Given the description of an element on the screen output the (x, y) to click on. 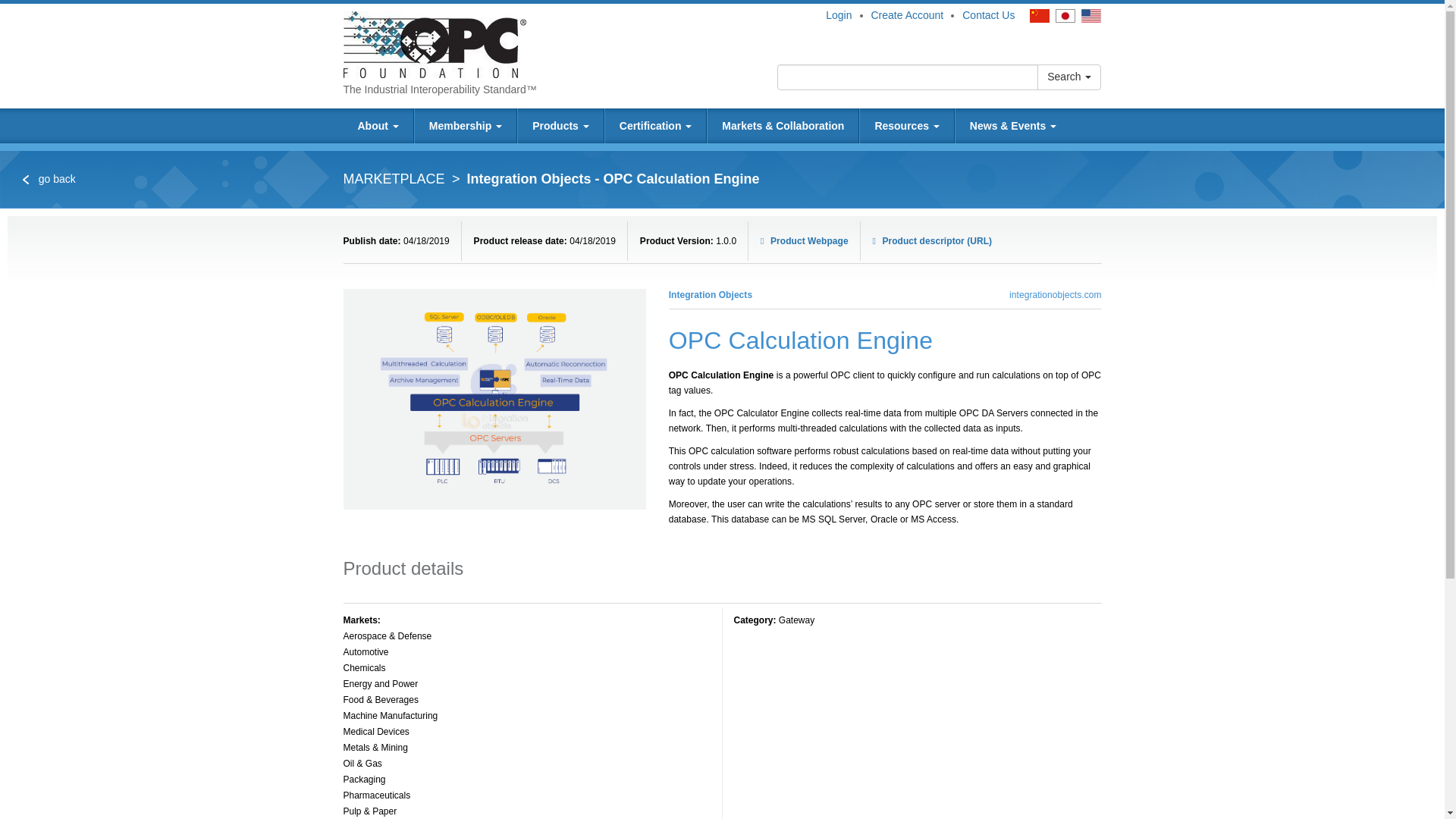
Product descriptor (932, 240)
Search (1068, 77)
About (377, 125)
Products (561, 125)
Contact Us (988, 15)
Create Account (906, 15)
MARKETPLACE (393, 178)
Login (838, 15)
Integration Objects (1054, 295)
Product Webpage (804, 240)
OPC Foundation (433, 43)
OPC Calculation Engine (494, 398)
Go Back (49, 178)
Integration Objects (710, 294)
Membership (465, 125)
